Given the description of an element on the screen output the (x, y) to click on. 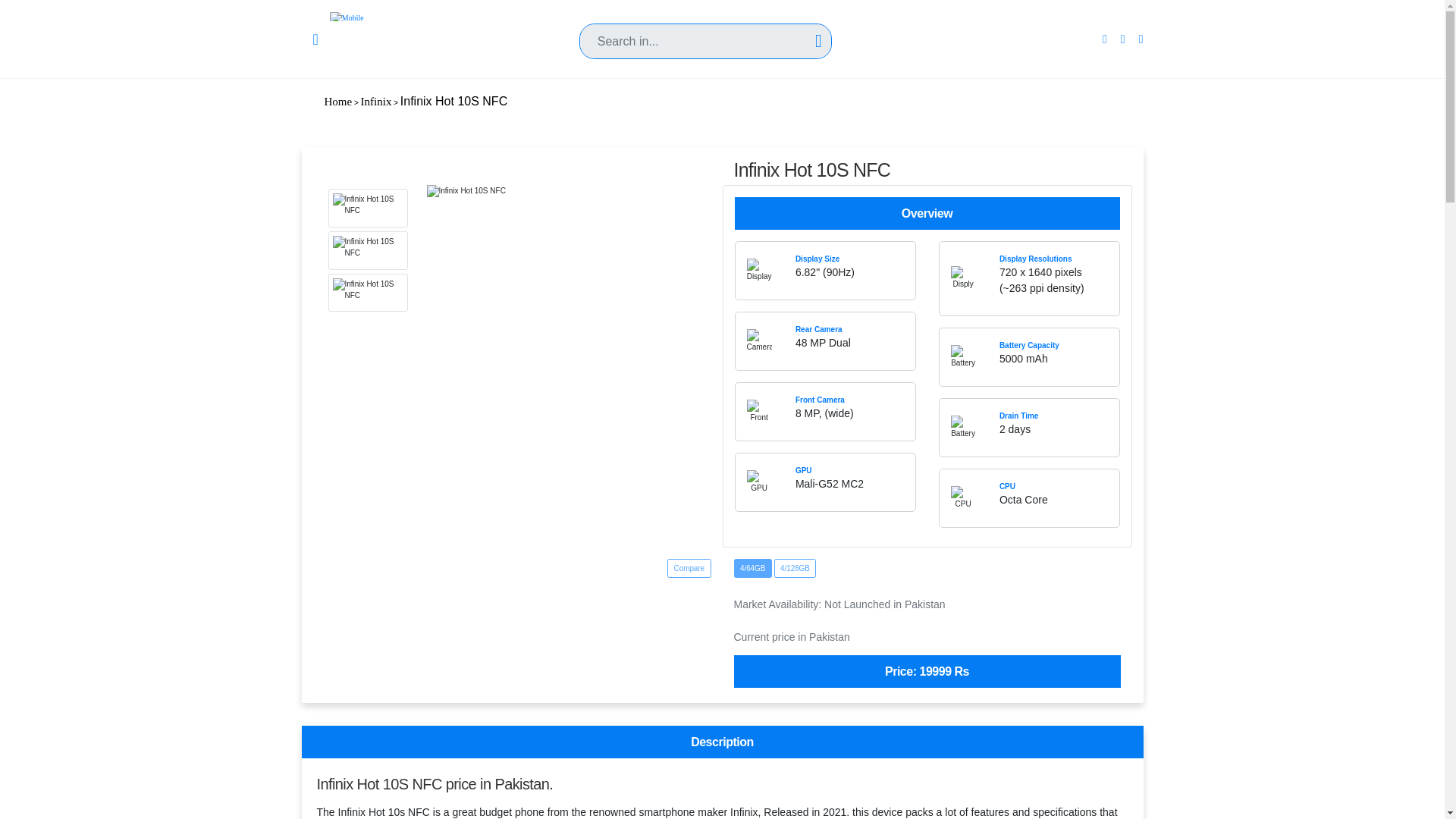
Infinix (376, 101)
Home (338, 101)
Search (705, 20)
Compare (688, 568)
